Given the description of an element on the screen output the (x, y) to click on. 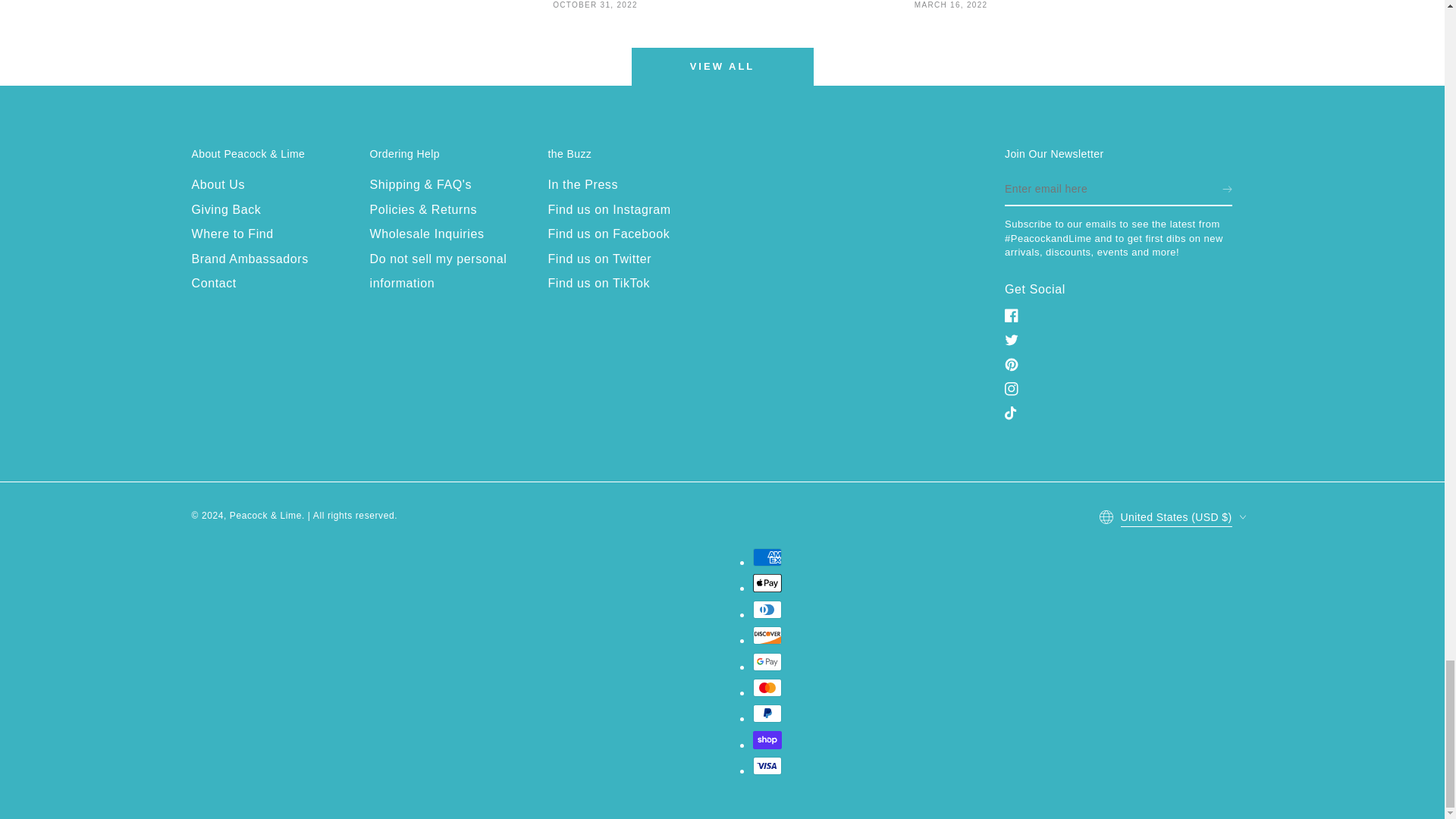
Apple Pay (766, 583)
Diners Club (766, 609)
American Express (766, 556)
